Given the description of an element on the screen output the (x, y) to click on. 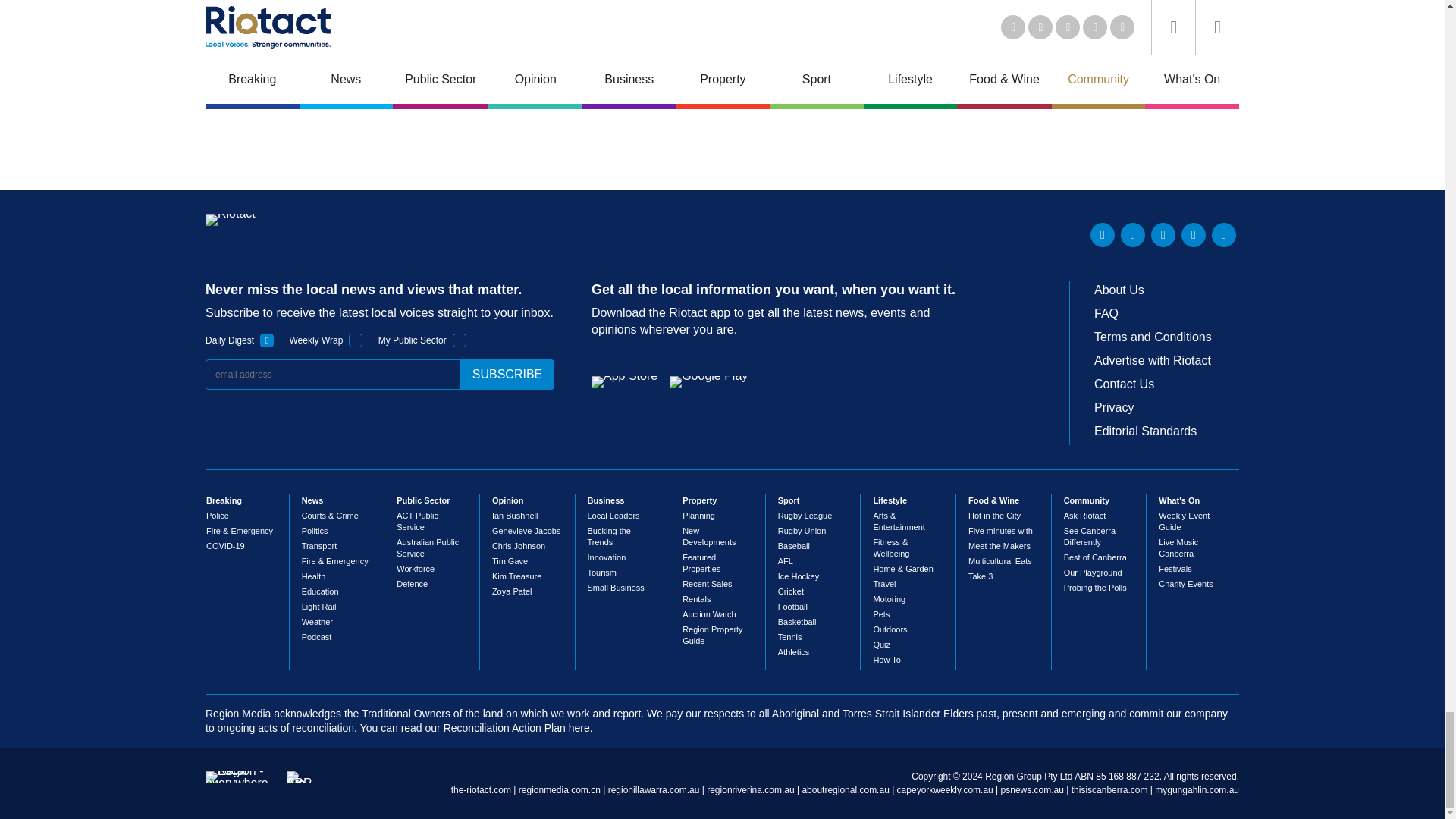
subscribe (507, 374)
Instagram (1223, 234)
1 (266, 340)
Twitter (1132, 234)
1 (355, 340)
Youtube (1162, 234)
LinkedIn (1102, 234)
App Store (624, 381)
1 (458, 340)
Facebook (1192, 234)
